Given the description of an element on the screen output the (x, y) to click on. 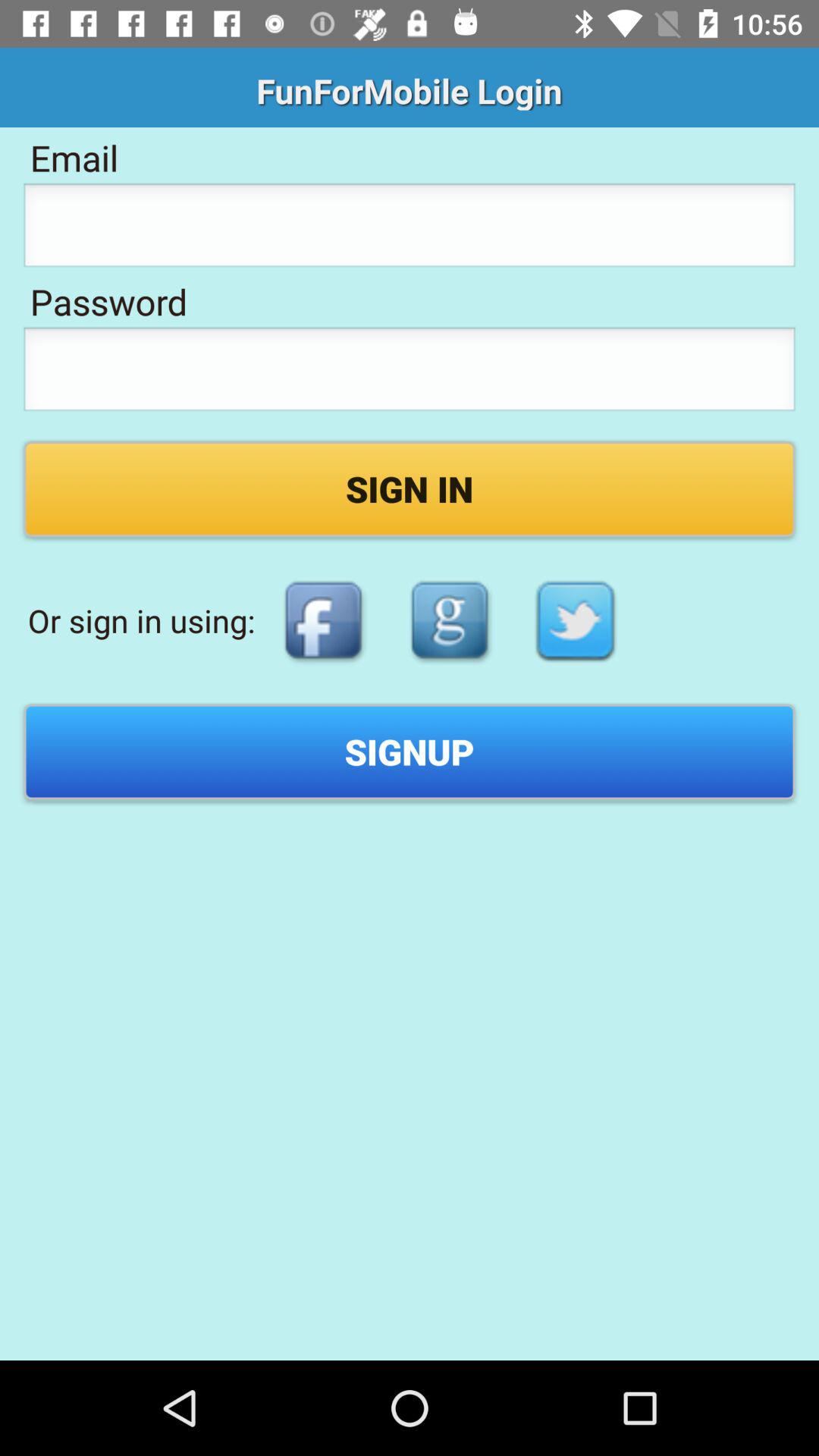
open the icon next to the or sign in icon (323, 620)
